Given the description of an element on the screen output the (x, y) to click on. 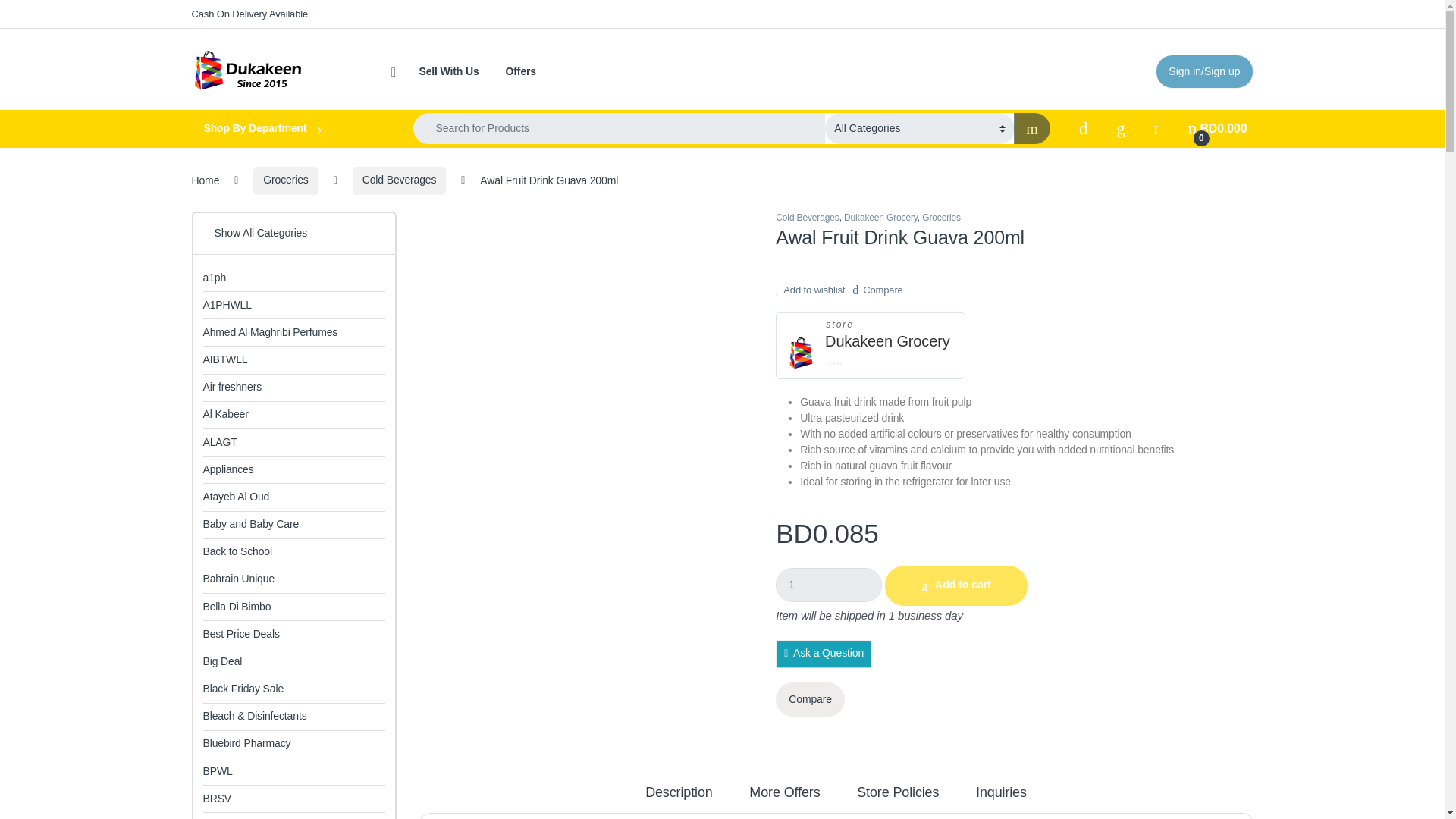
1 (829, 584)
Cash On Delivery Available (248, 13)
Cash On Delivery Available (248, 13)
